Given the description of an element on the screen output the (x, y) to click on. 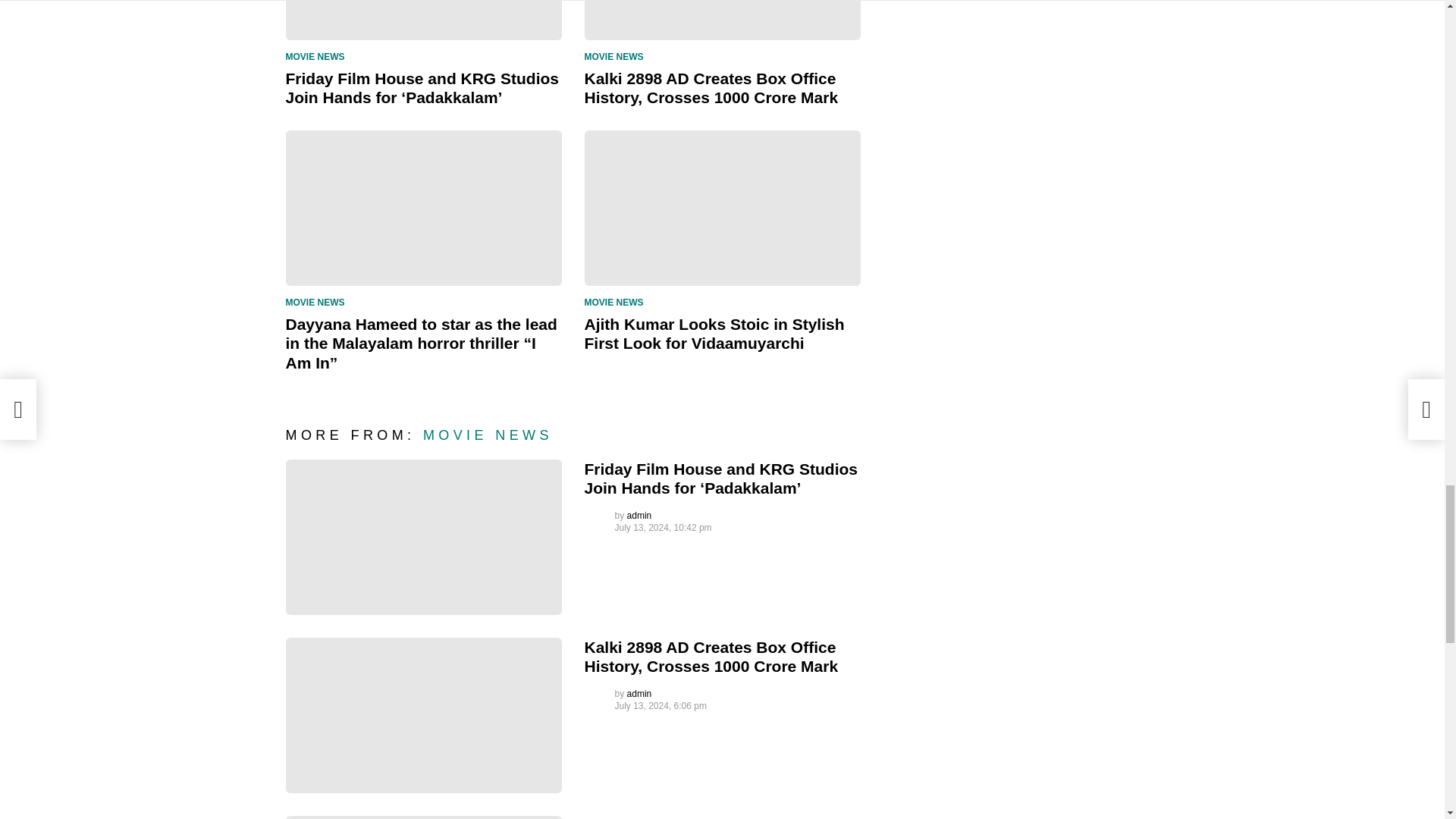
Posts by admin (639, 515)
MOVIE NEWS (317, 302)
MOVIE NEWS (616, 56)
Posts by admin (639, 693)
MOVIE NEWS (317, 56)
